Given the description of an element on the screen output the (x, y) to click on. 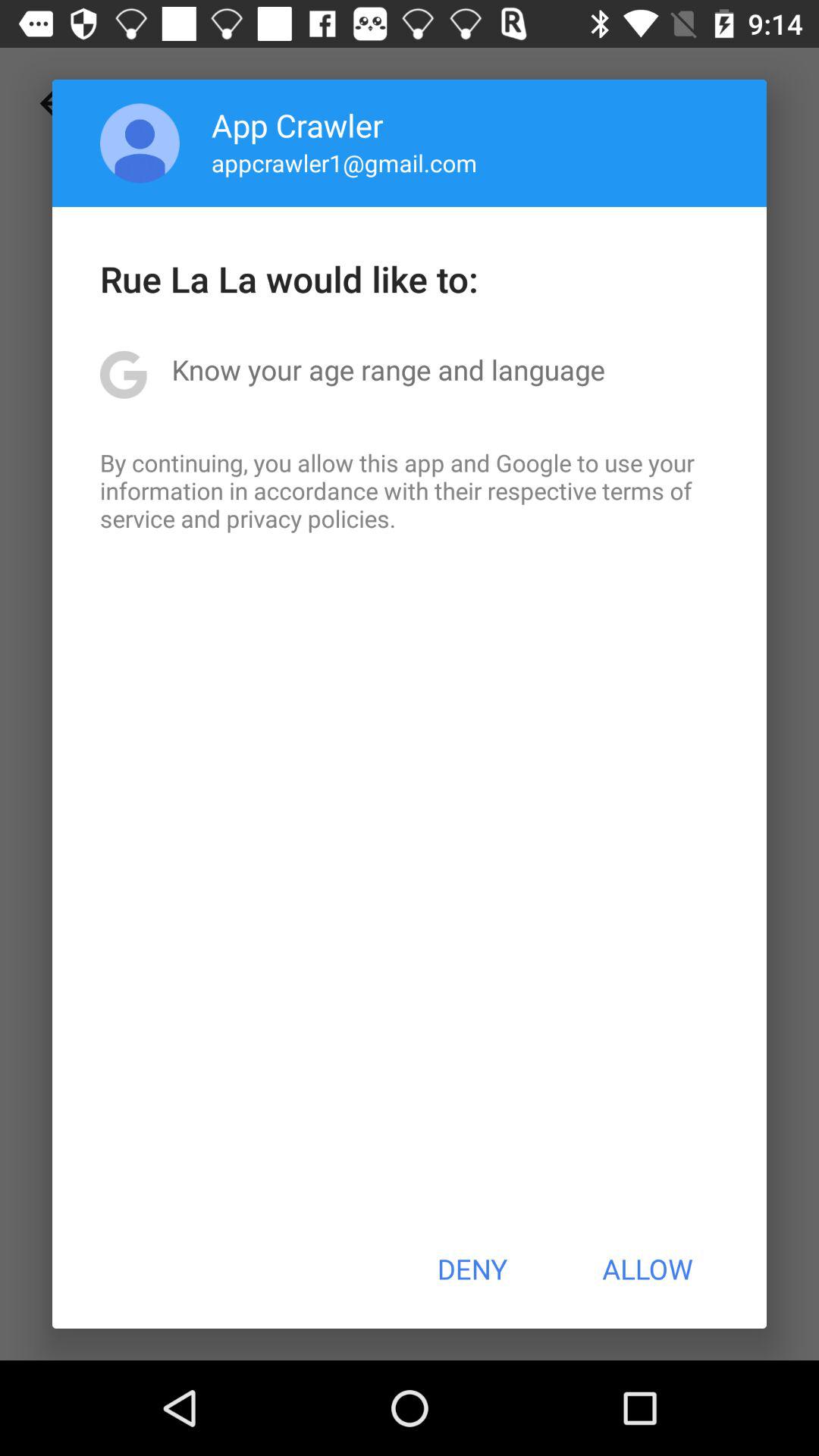
jump until the know your age app (388, 369)
